Given the description of an element on the screen output the (x, y) to click on. 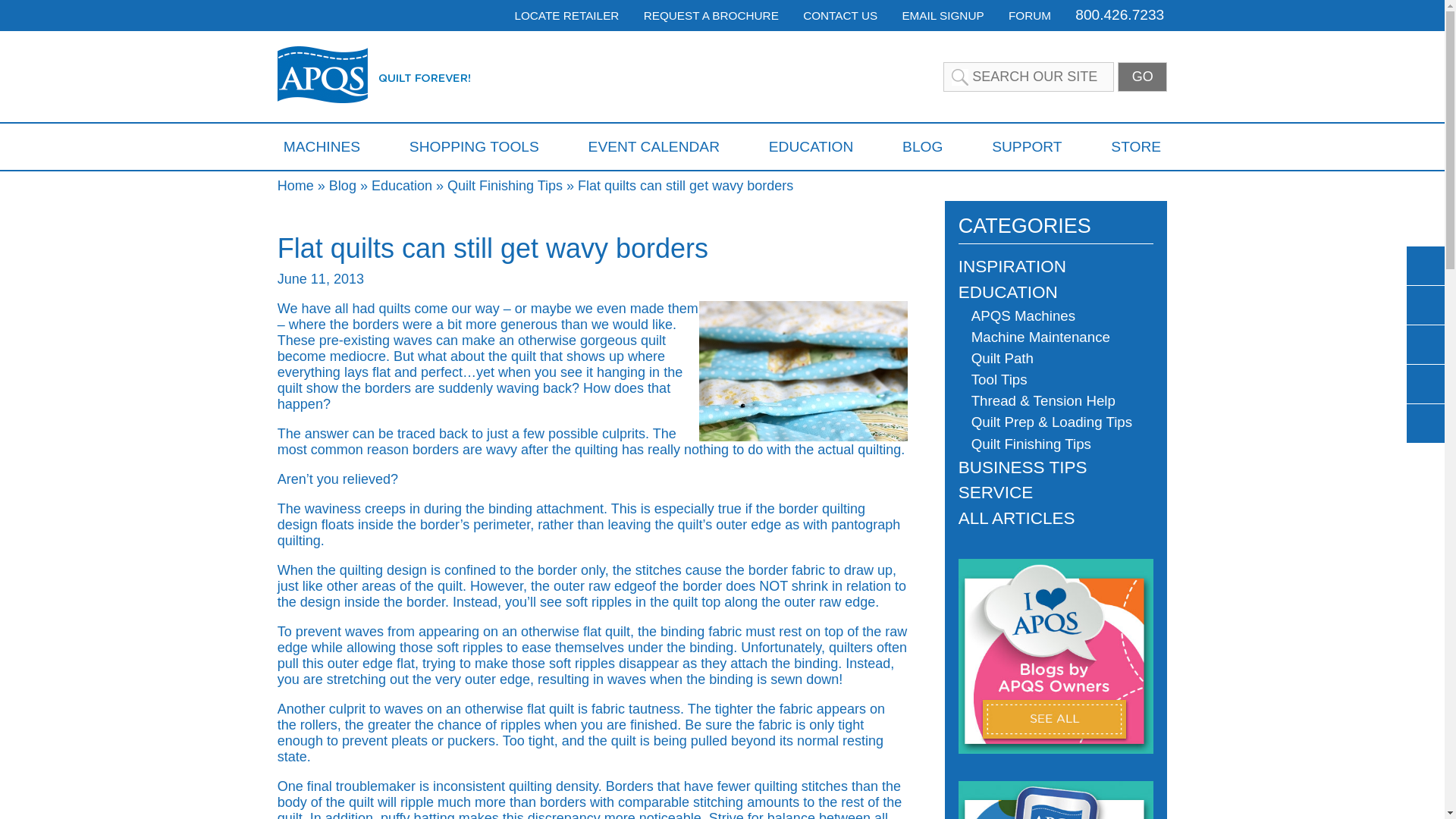
LOCATE RETAILER (566, 15)
800.426.7233 (1119, 14)
SHOPPING TOOLS (473, 146)
MACHINES (322, 146)
GO (1142, 76)
EMAIL SIGNUP (942, 15)
EDUCATION (811, 146)
EVENT CALENDAR (653, 146)
REQUEST A BROCHURE (710, 15)
FORUM (1030, 15)
